Given the description of an element on the screen output the (x, y) to click on. 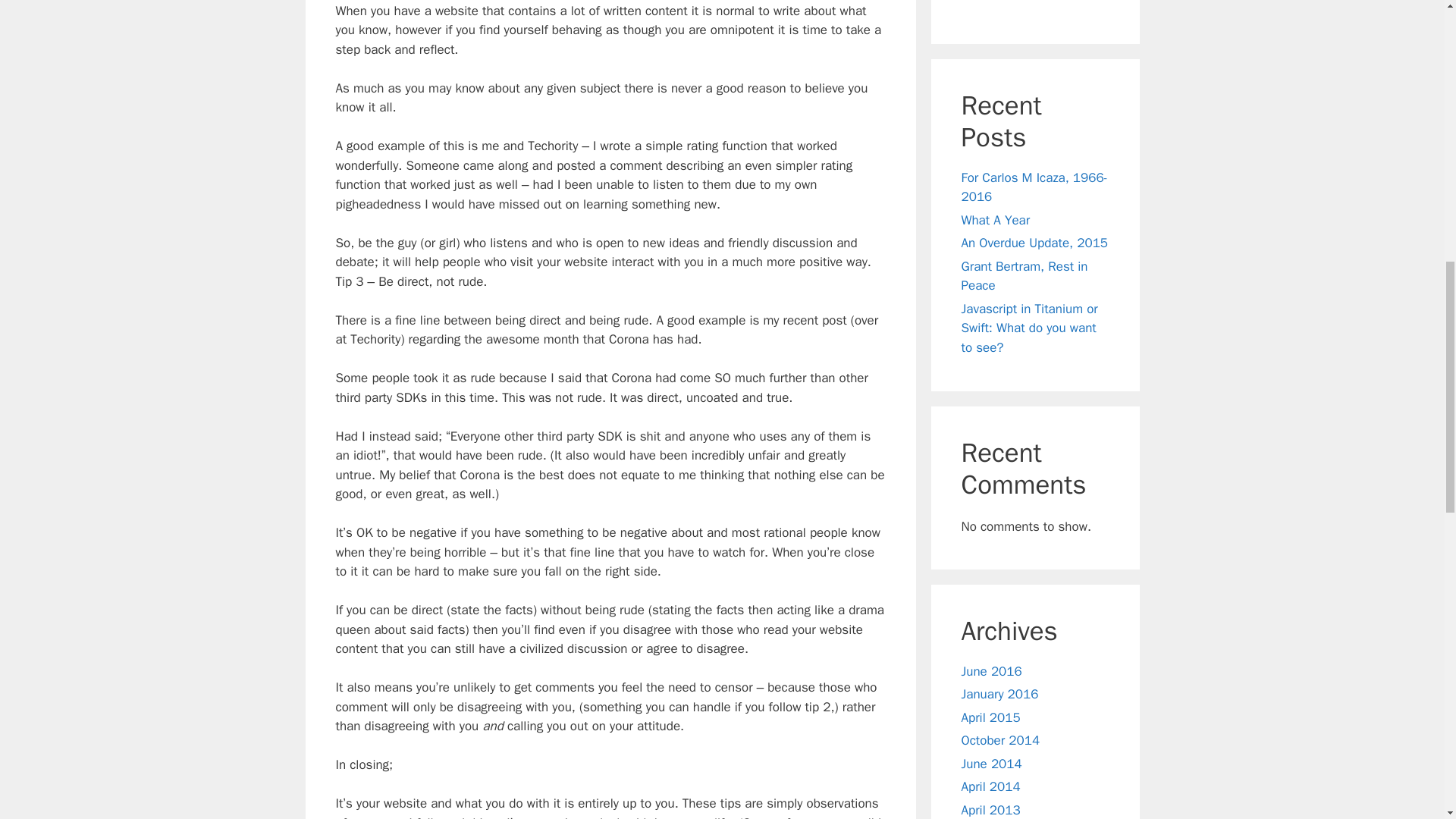
What A Year (995, 220)
An Overdue Update, 2015 (1034, 242)
October 2014 (1000, 740)
June 2016 (991, 671)
June 2014 (991, 763)
January 2016 (999, 693)
April 2014 (990, 786)
For Carlos M Icaza, 1966-2016 (1034, 187)
April 2015 (990, 717)
Javascript in Titanium or Swift: What do you want to see? (1028, 328)
April 2013 (990, 810)
Grant Bertram, Rest in Peace (1023, 276)
